Given the description of an element on the screen output the (x, y) to click on. 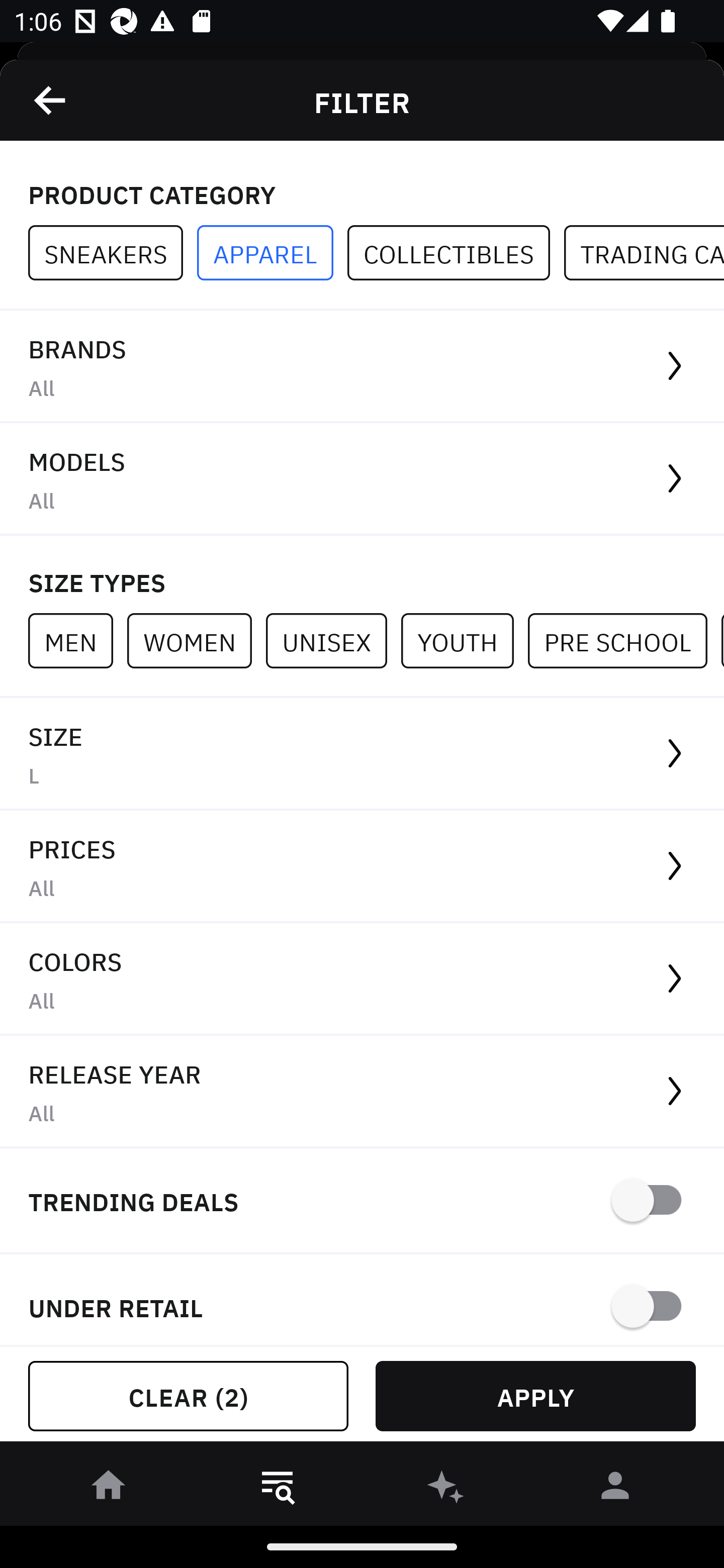
 (50, 100)
SNEAKERS (112, 252)
APPAREL (271, 252)
COLLECTIBLES (455, 252)
TRADING CARDS (643, 252)
BRANDS All (362, 366)
MODELS All (362, 479)
MEN (77, 640)
WOMEN (196, 640)
UNISEX (333, 640)
YOUTH (464, 640)
PRE SCHOOL (624, 640)
SIZE L (362, 753)
PRICES All (362, 866)
COLORS All (362, 979)
RELEASE YEAR All (362, 1091)
TRENDING DEALS (362, 1200)
UNDER RETAIL (362, 1299)
CLEAR (2) (188, 1396)
APPLY (535, 1396)
󰋜 (108, 1488)
󱎸 (277, 1488)
󰫢 (446, 1488)
󰀄 (615, 1488)
